Given the description of an element on the screen output the (x, y) to click on. 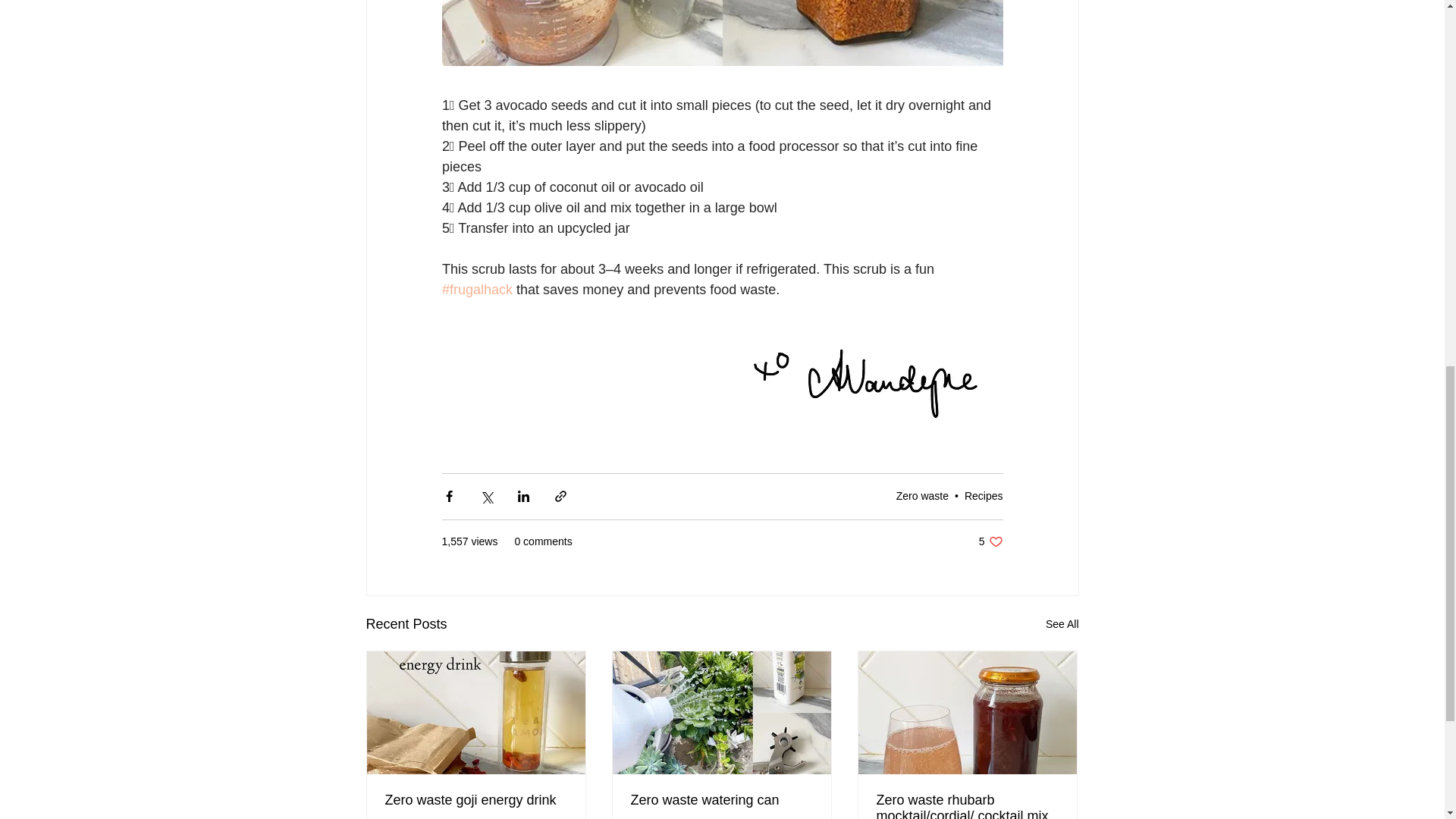
Zero waste watering can (721, 800)
Zero waste (922, 495)
See All (1061, 624)
Recipes (990, 541)
Zero waste goji energy drink (983, 495)
